Given the description of an element on the screen output the (x, y) to click on. 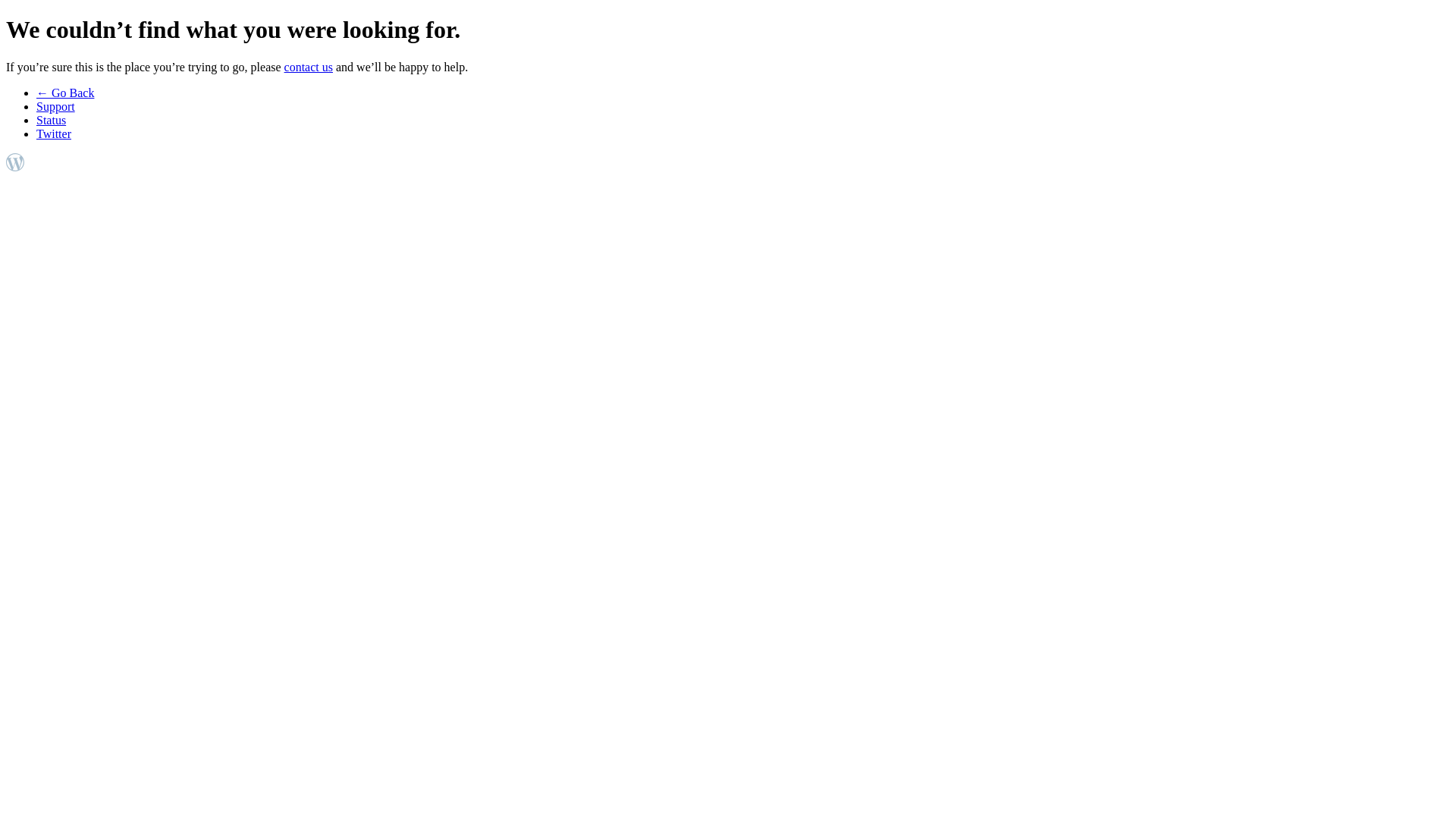
Support Element type: text (55, 106)
Twitter Element type: text (53, 133)
Status Element type: text (50, 119)
contact us Element type: text (308, 66)
